Given the description of an element on the screen output the (x, y) to click on. 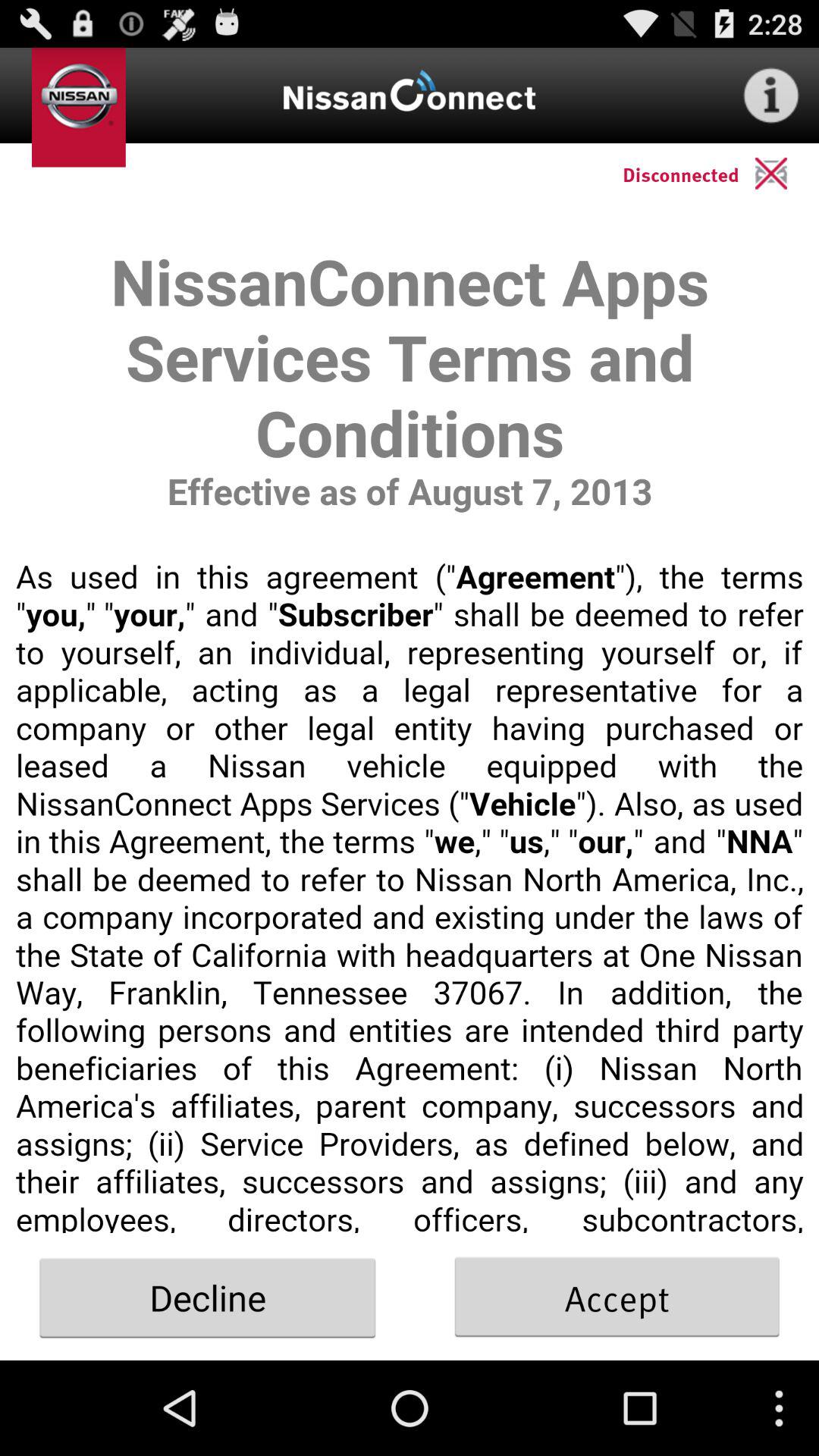
close (787, 173)
